Given the description of an element on the screen output the (x, y) to click on. 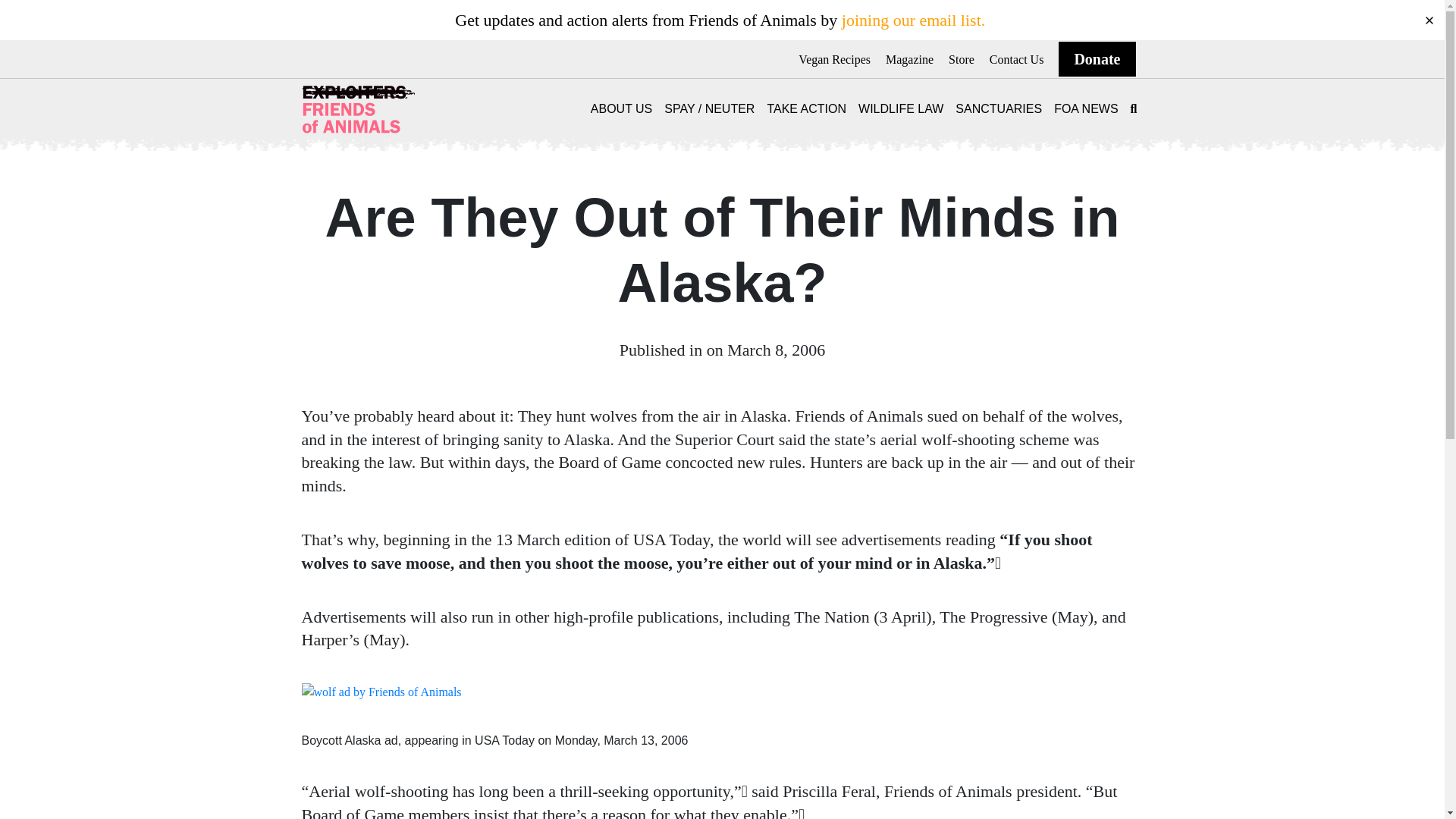
Vegan Recipes (833, 59)
ABOUT US (621, 108)
Magazine (909, 59)
FOA NEWS (1086, 108)
Contact Us (1016, 59)
WILDLIFE LAW (901, 108)
joining our email list. (913, 19)
SANCTUARIES (998, 108)
TAKE ACTION (806, 108)
Store (961, 59)
Donate (1096, 58)
